Given the description of an element on the screen output the (x, y) to click on. 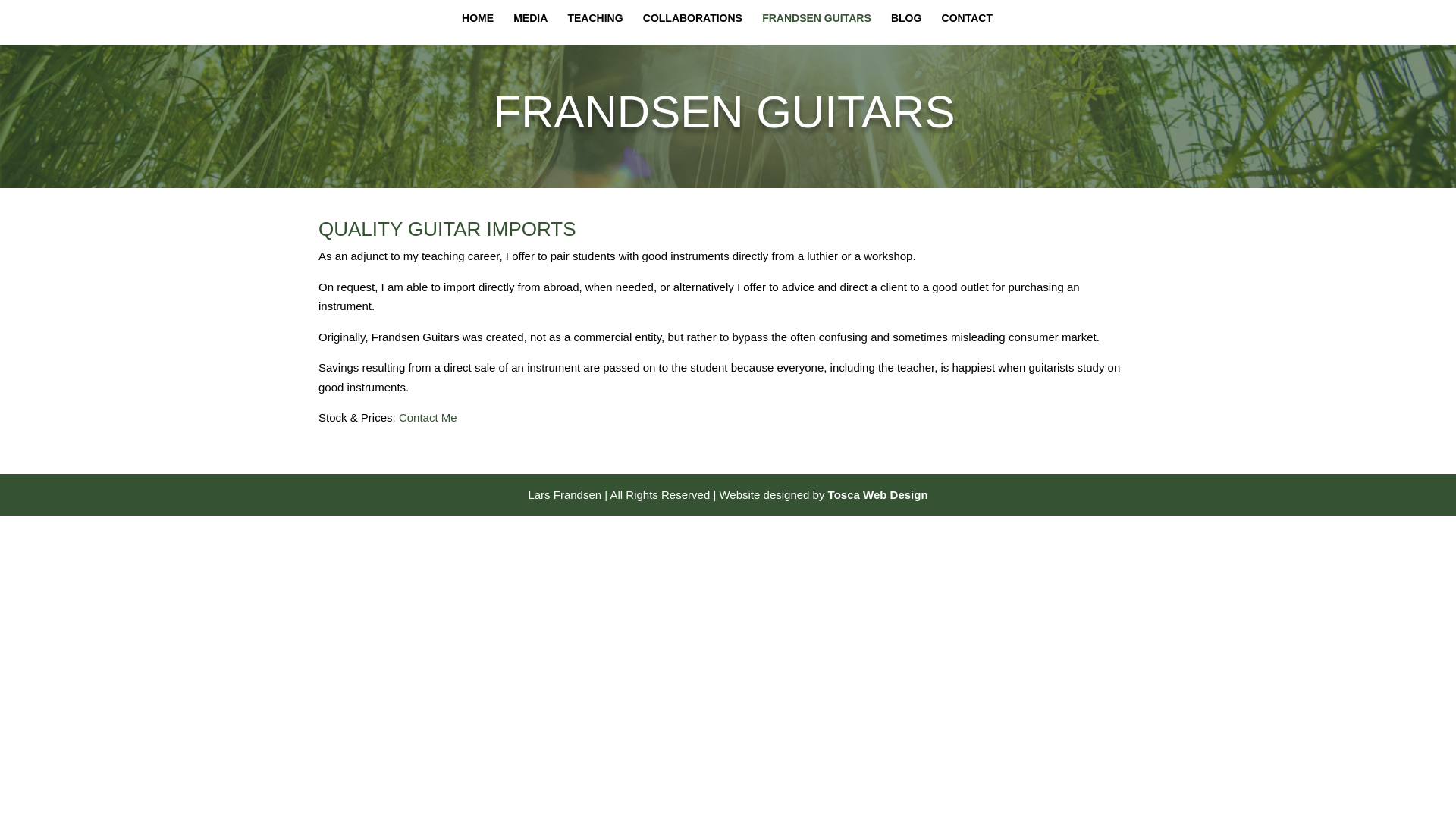
BLOG (906, 29)
TEACHING (595, 29)
Tosca Web Design (878, 494)
HOME (477, 29)
FRANDSEN GUITARS (815, 29)
COLLABORATIONS (692, 29)
MEDIA (530, 29)
Contact Me (427, 417)
CONTACT (967, 29)
